Given the description of an element on the screen output the (x, y) to click on. 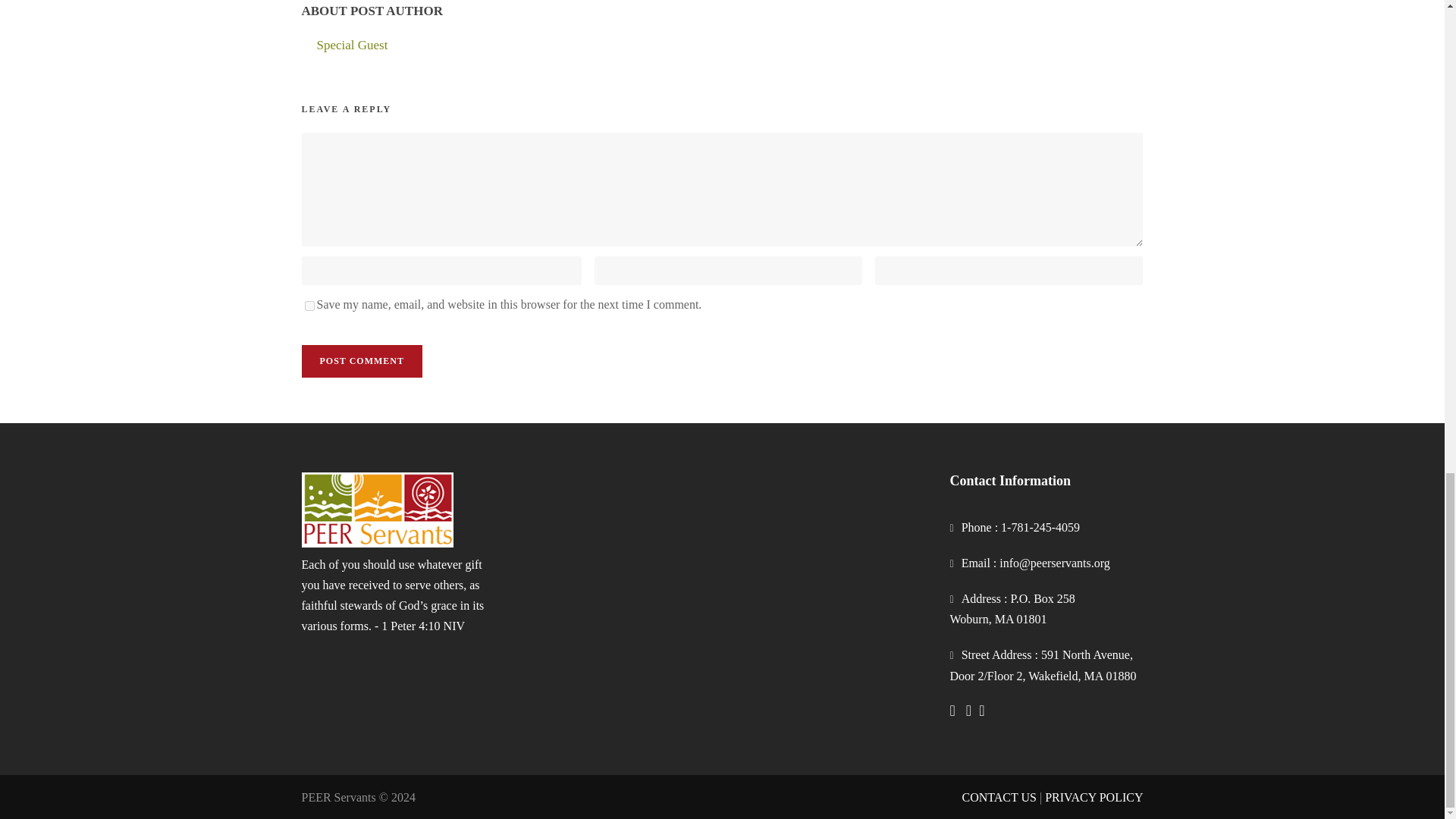
Posts by Special Guest (352, 44)
yes (309, 306)
Post Comment (361, 360)
